Given the description of an element on the screen output the (x, y) to click on. 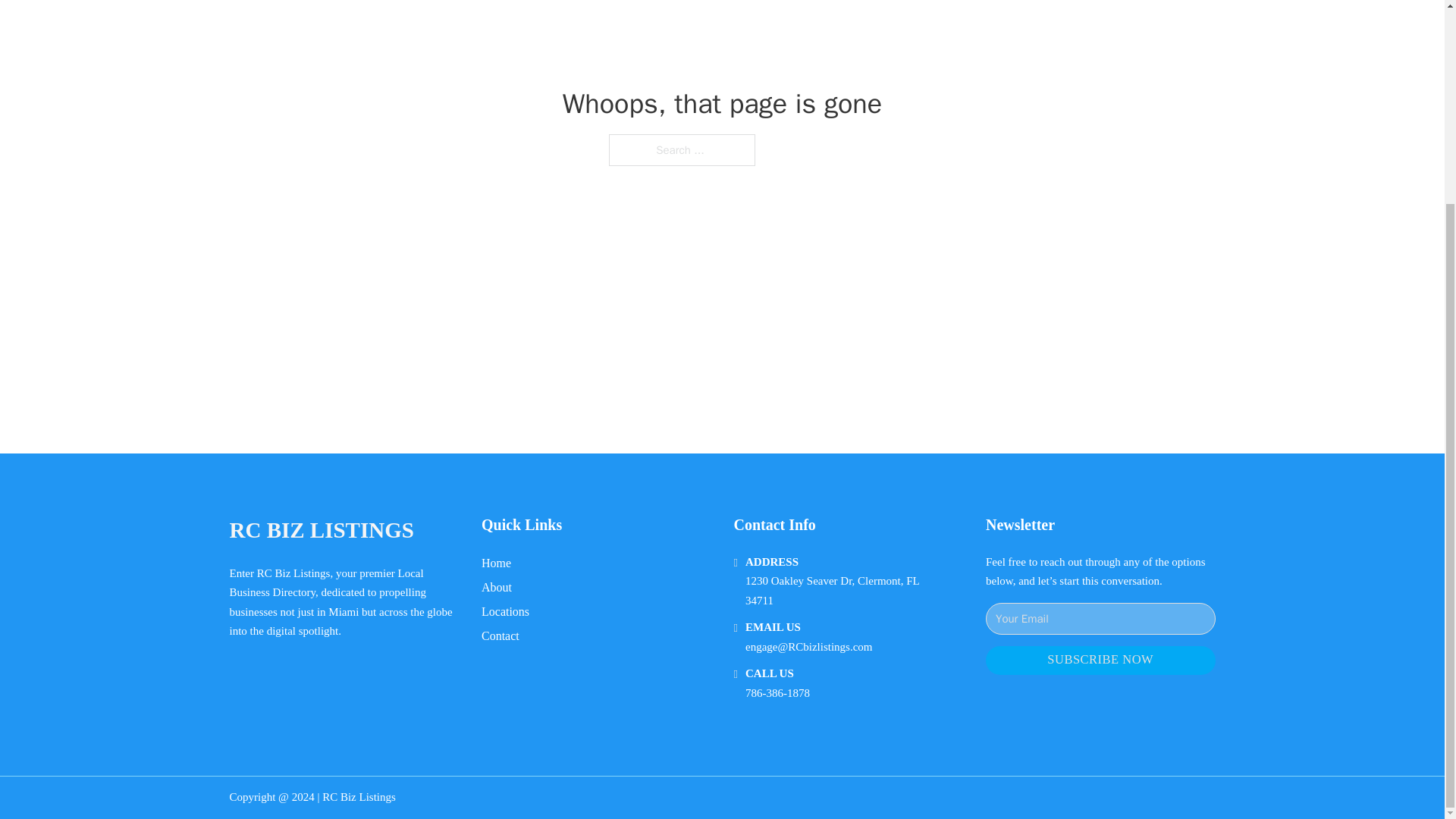
SUBSCRIBE NOW (1100, 660)
786-386-1878 (777, 693)
RC BIZ LISTINGS (320, 529)
Home (496, 562)
About (496, 587)
Locations (505, 611)
Contact (500, 635)
